Given the description of an element on the screen output the (x, y) to click on. 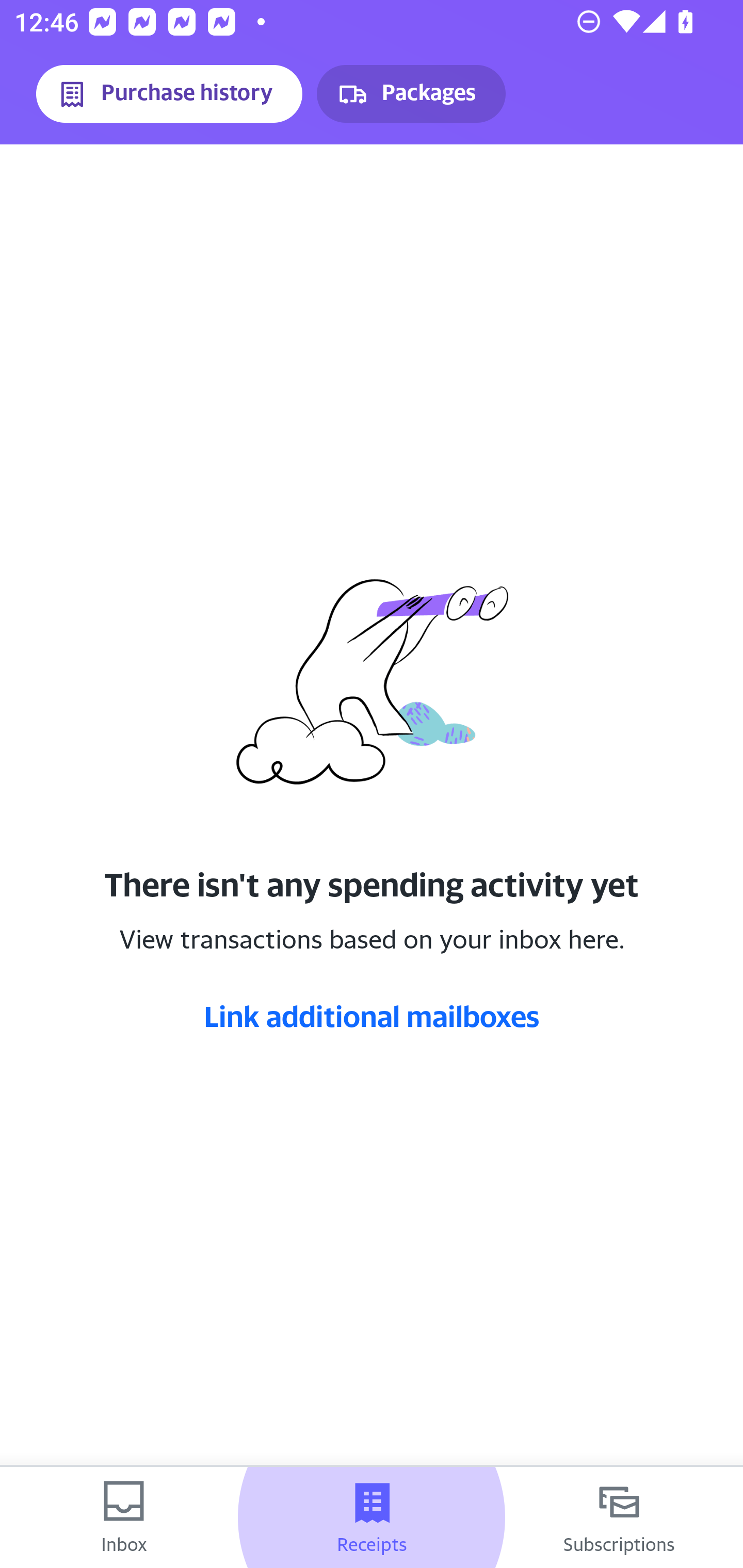
Packages (410, 93)
Link additional mailboxes (371, 1015)
Inbox (123, 1517)
Receipts (371, 1517)
Subscriptions (619, 1517)
